Given the description of an element on the screen output the (x, y) to click on. 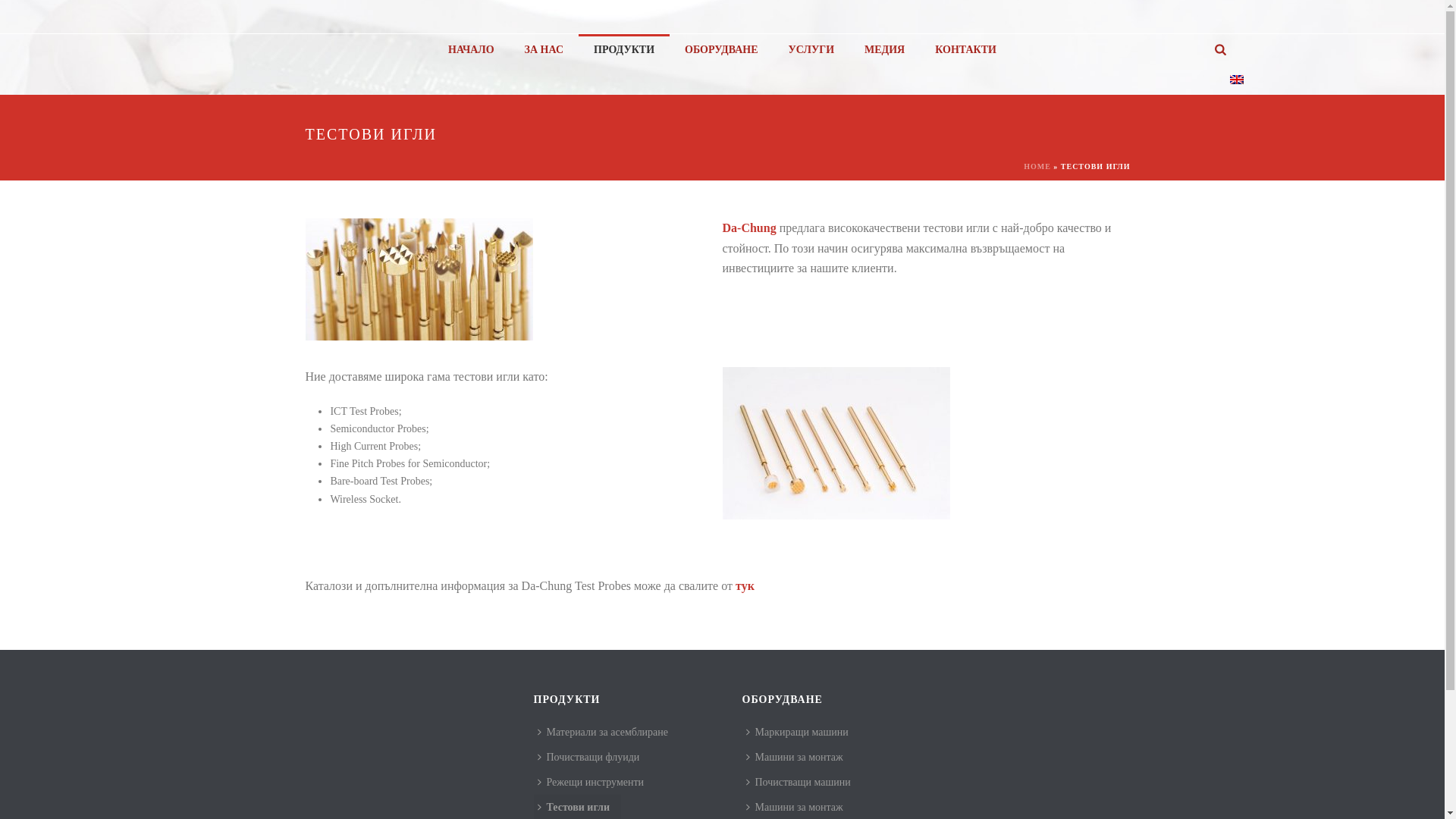
da-chung1 Element type: hover (418, 279)
da-chung-2 Element type: hover (835, 443)
HOME Element type: text (1037, 166)
